Given the description of an element on the screen output the (x, y) to click on. 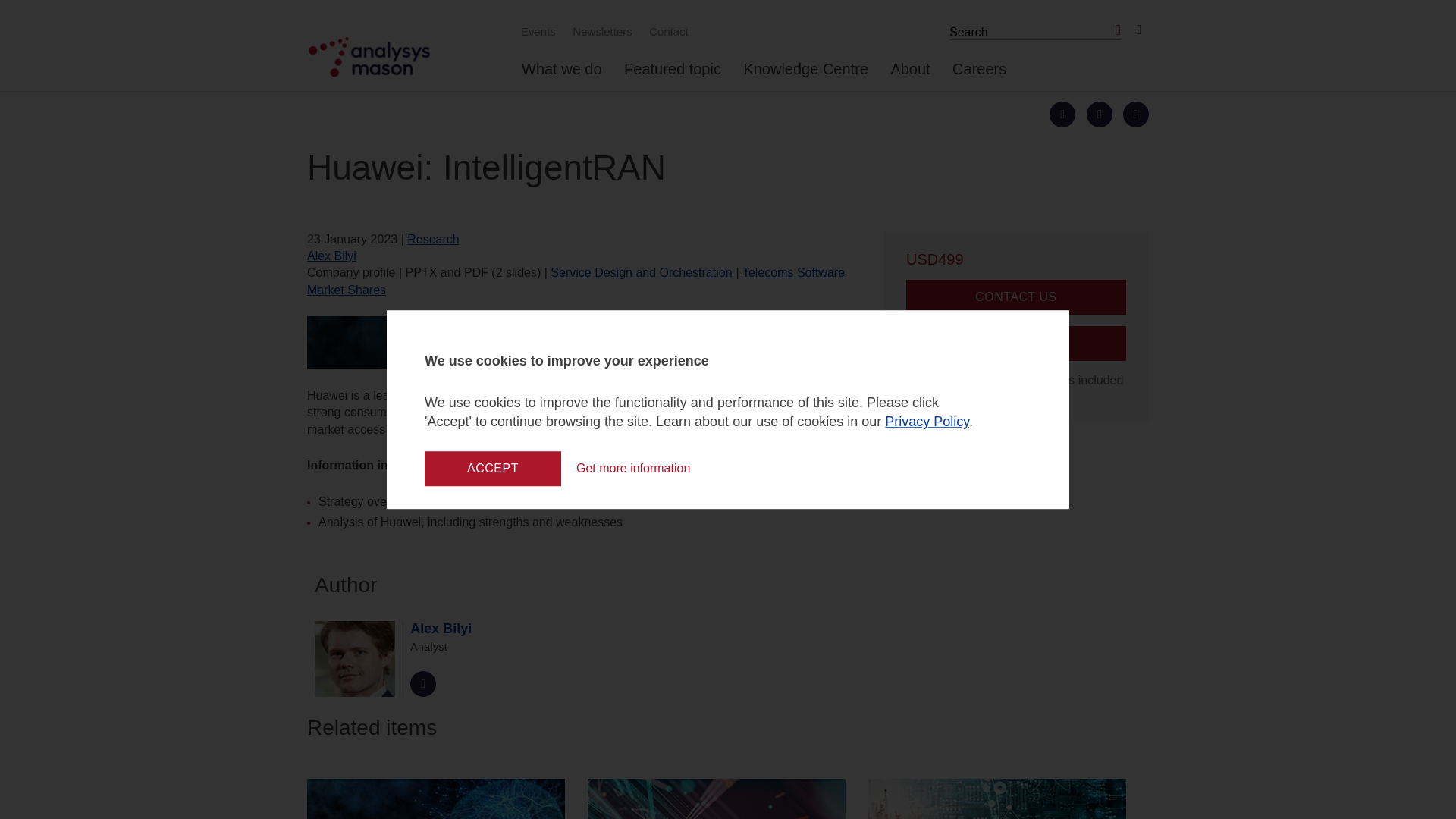
What we do (561, 75)
Events (536, 31)
Contact (666, 31)
Newsletters (599, 31)
About (909, 75)
Careers (978, 75)
Featured topic (672, 75)
Privacy Policy (927, 421)
Knowledge Centre (805, 75)
